Given the description of an element on the screen output the (x, y) to click on. 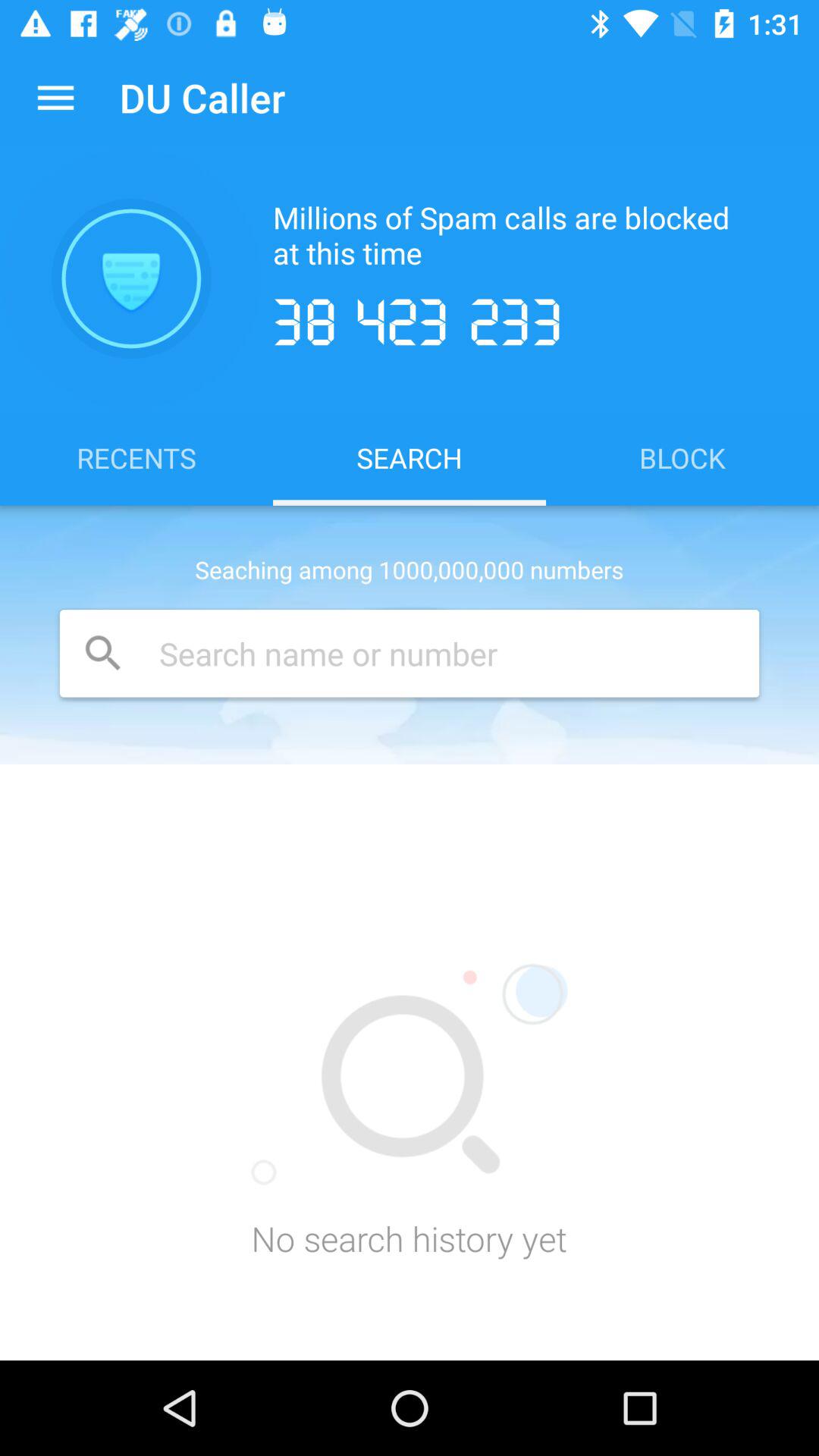
click item below the 38 423 233 (682, 457)
